Given the description of an element on the screen output the (x, y) to click on. 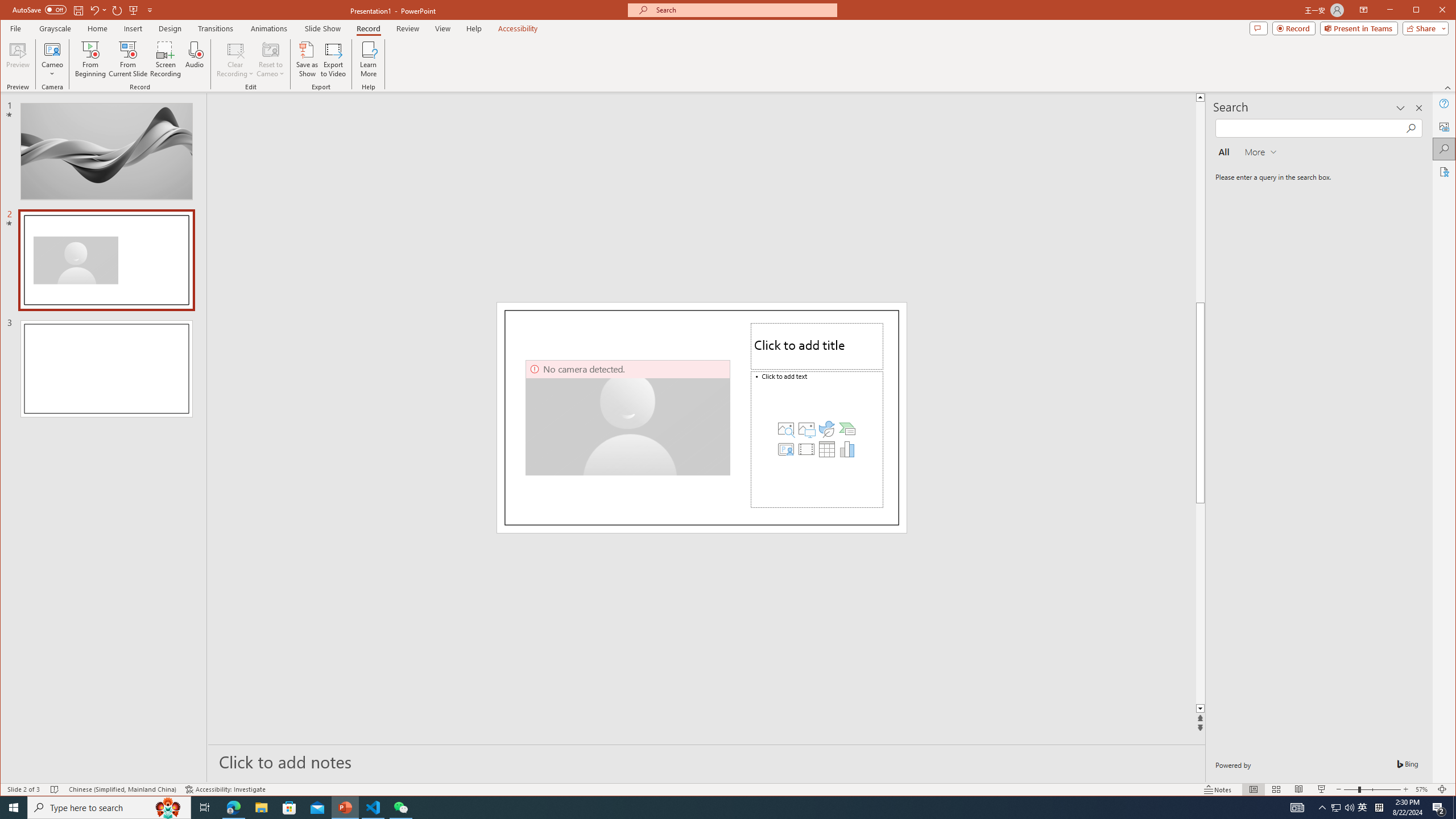
Export to Video (333, 59)
Grayscale (55, 28)
